Given the description of an element on the screen output the (x, y) to click on. 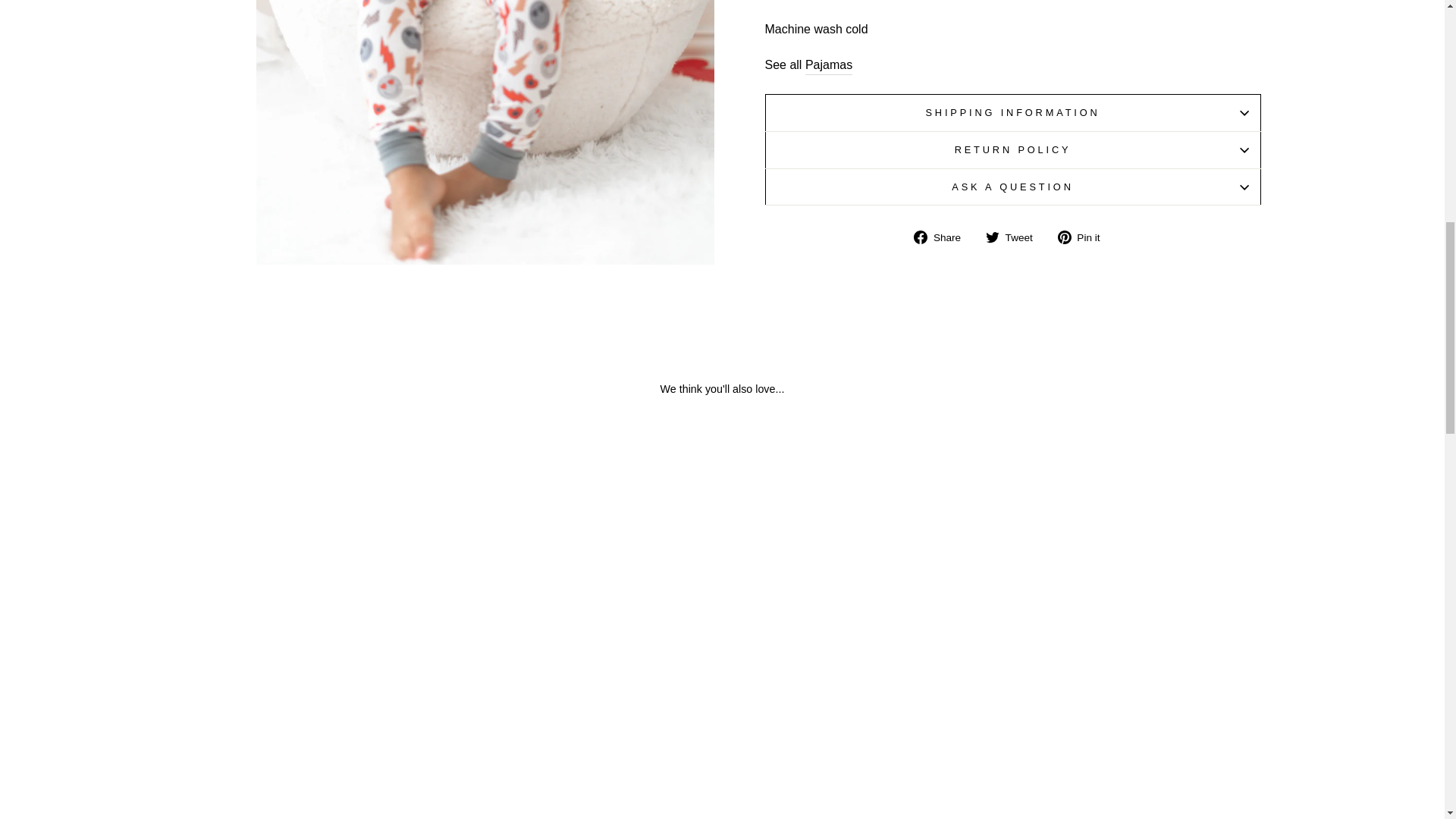
Pin on Pinterest (1085, 236)
Tweet on Twitter (1014, 236)
twitter (991, 237)
Share on Facebook (943, 236)
